Given the description of an element on the screen output the (x, y) to click on. 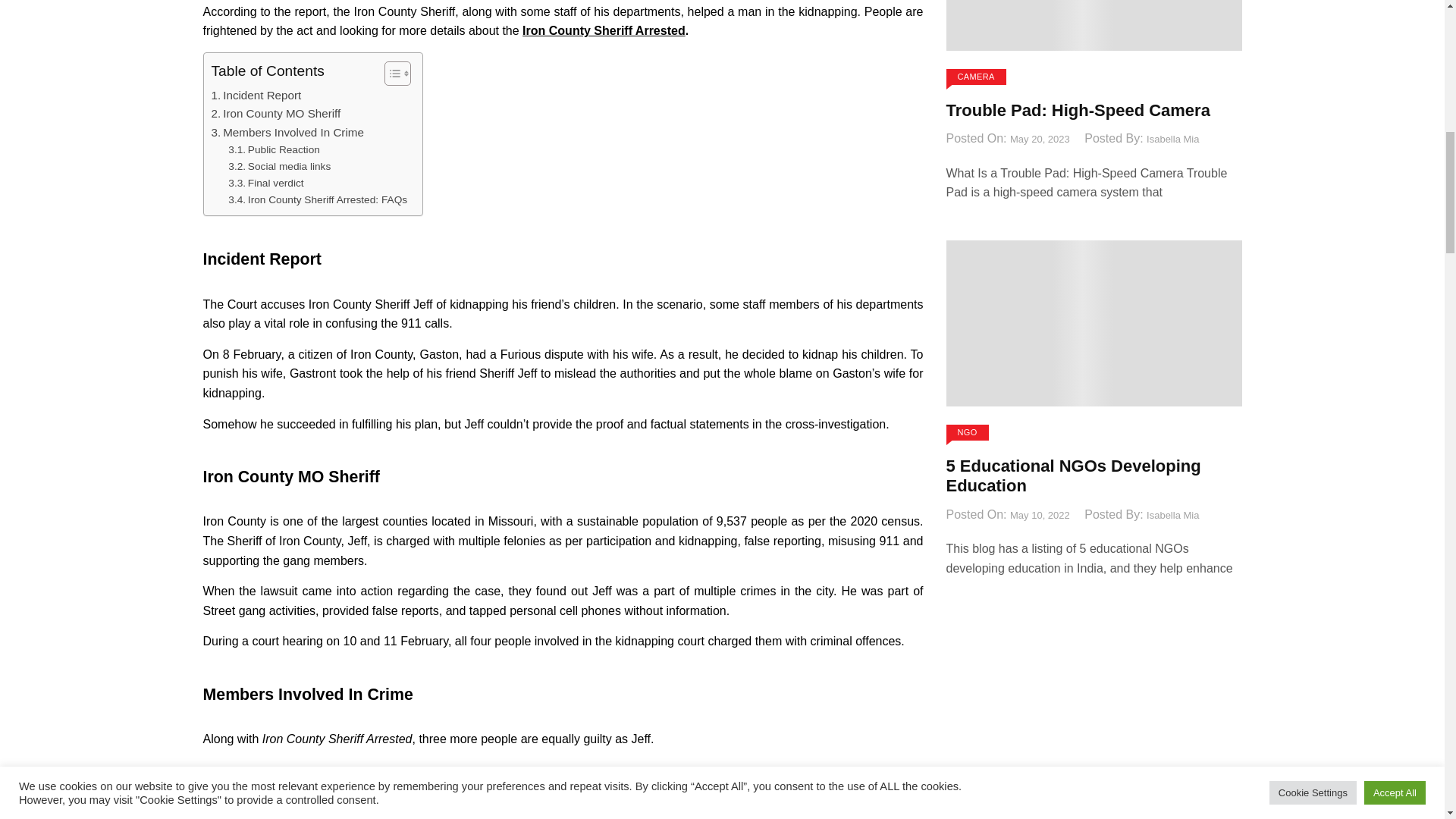
Incident Report (256, 95)
Iron County Sheriff Arrested: FAQs (317, 199)
Public Reaction (274, 149)
Final verdict (265, 183)
Social media links (279, 166)
